Given the description of an element on the screen output the (x, y) to click on. 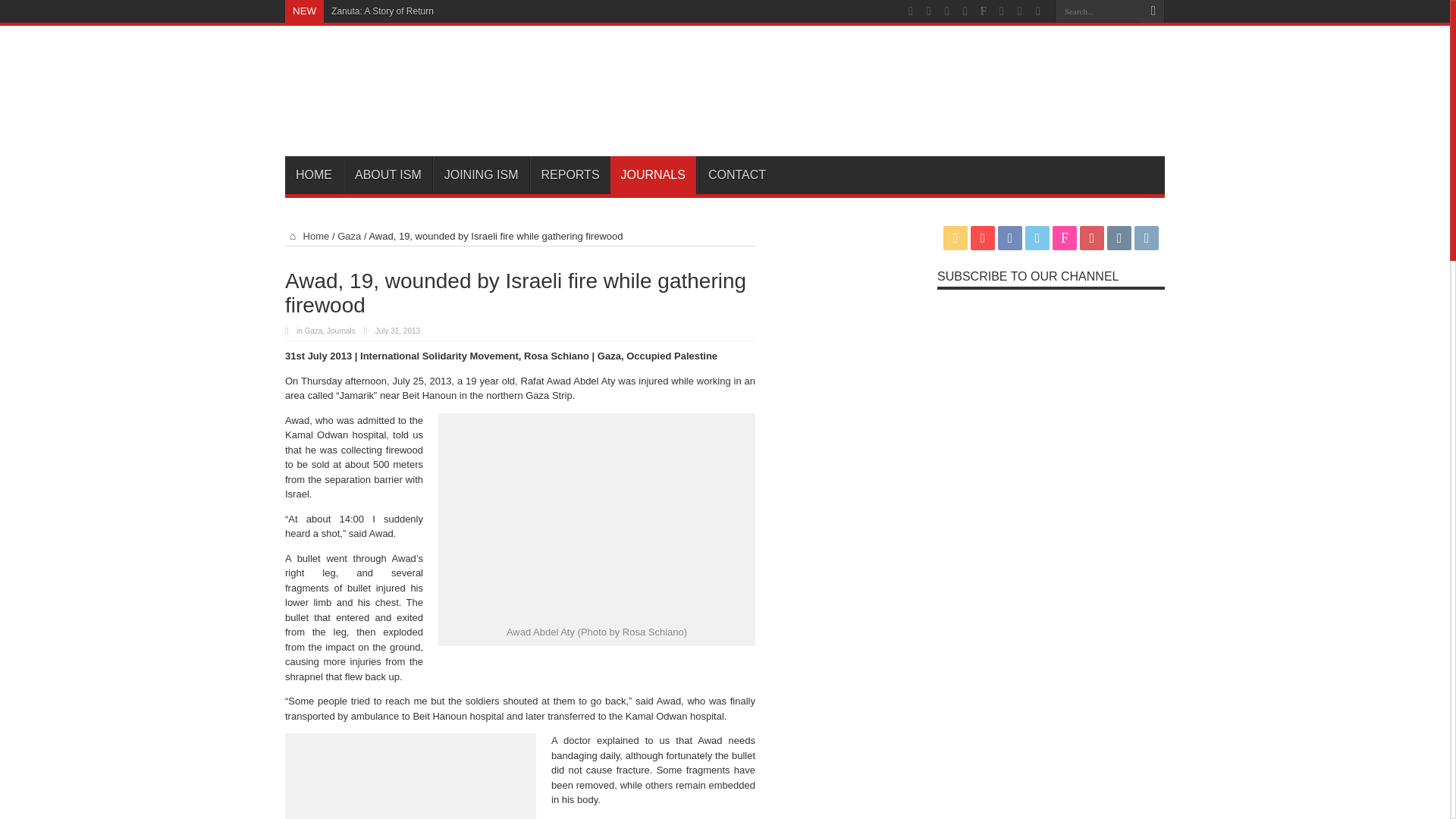
JOINING ISM (480, 175)
CONTACT (736, 175)
Zanuta: A Story of Return (382, 11)
Zanuta: A Story of Return (382, 11)
Search (1152, 11)
REPORTS (569, 175)
ABOUT ISM (387, 175)
Gaza (313, 330)
Gaza (349, 235)
Search... (1097, 11)
